Given the description of an element on the screen output the (x, y) to click on. 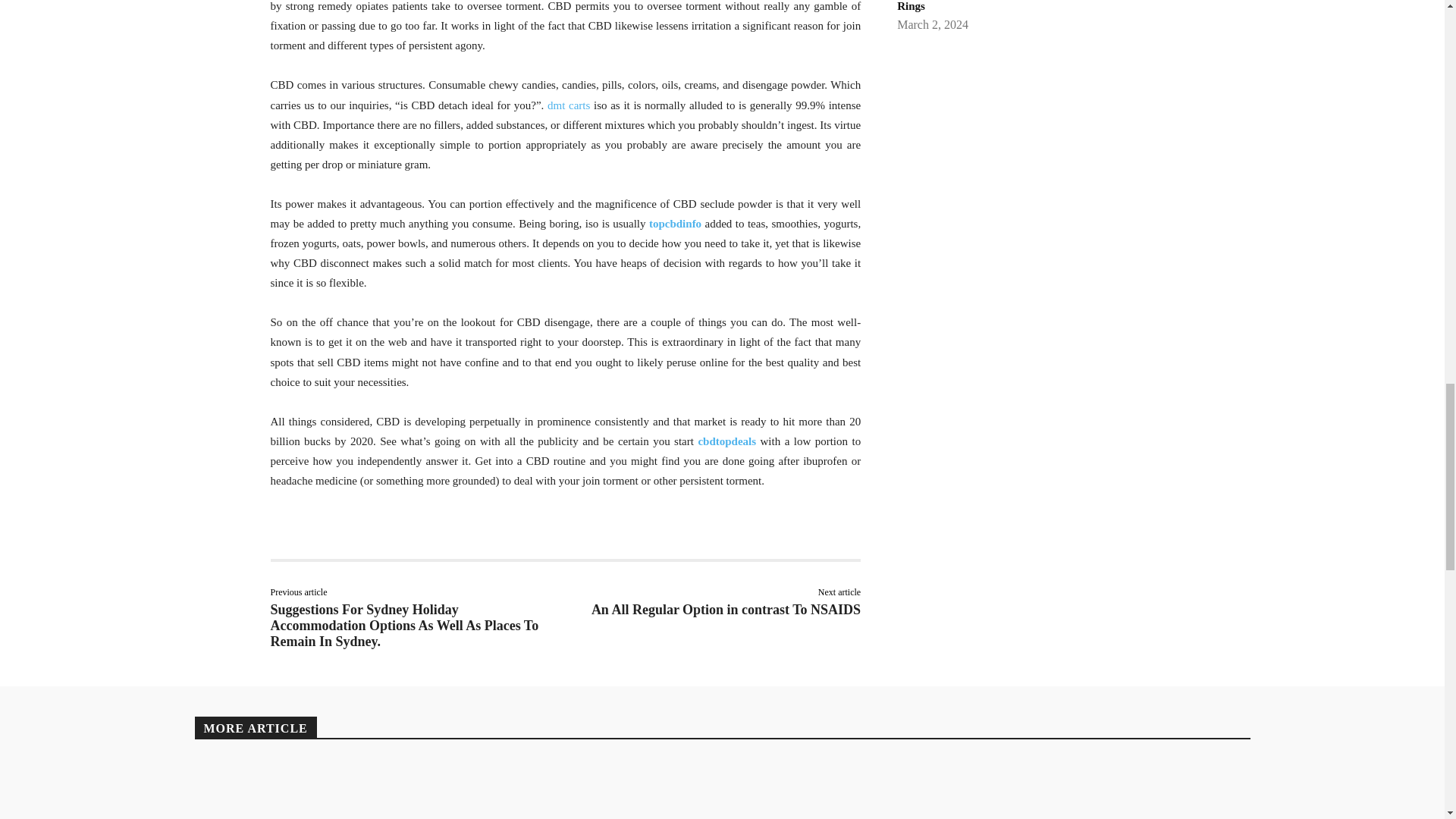
cbdtopdeals (726, 440)
An All Regular Option in contrast To NSAIDS (725, 609)
topcbdinfo (675, 223)
dmt carts (568, 105)
